Given the description of an element on the screen output the (x, y) to click on. 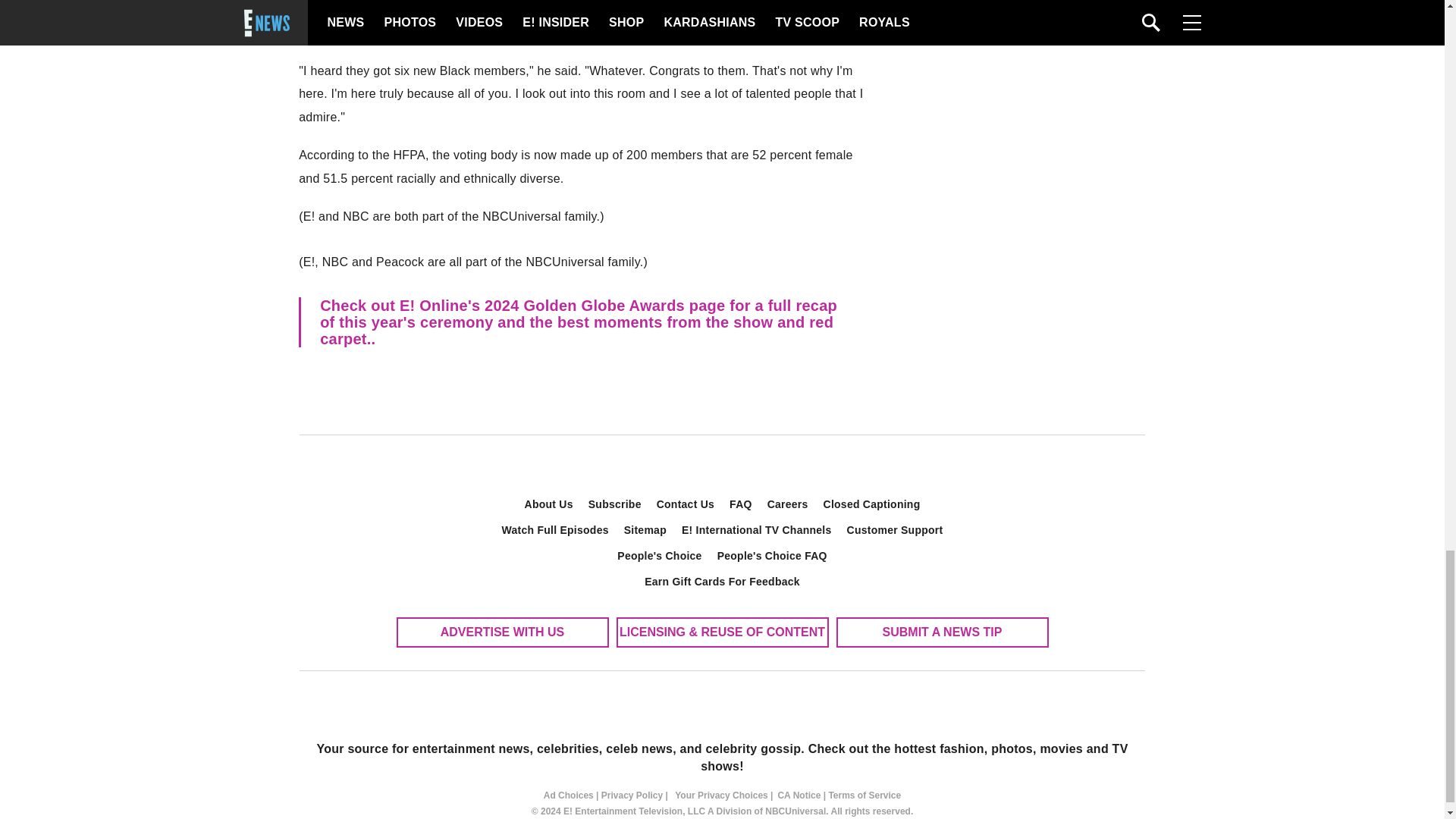
About Us (548, 503)
Subscribe (614, 503)
